Given the description of an element on the screen output the (x, y) to click on. 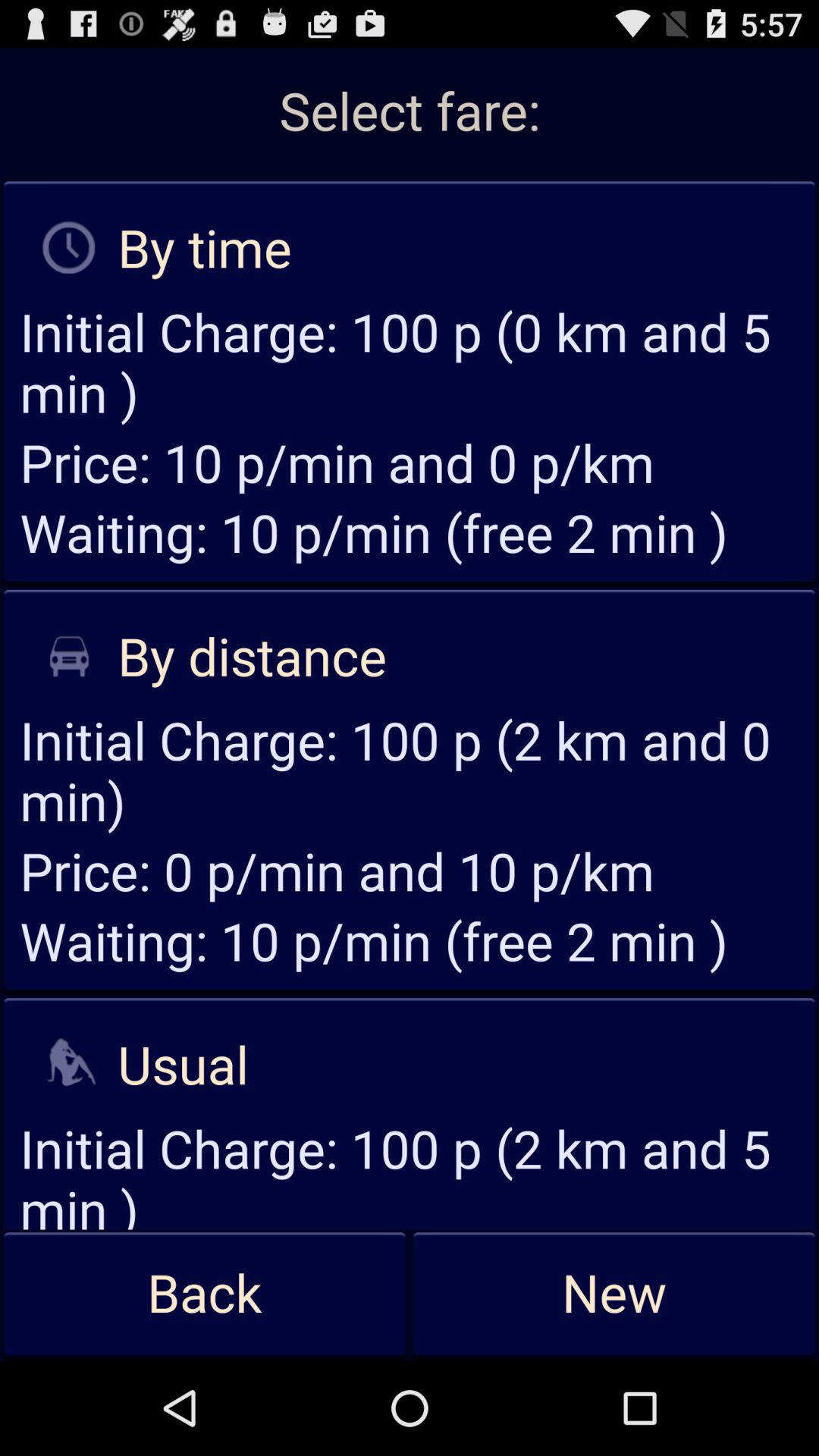
tap app to the right of back (614, 1294)
